Given the description of an element on the screen output the (x, y) to click on. 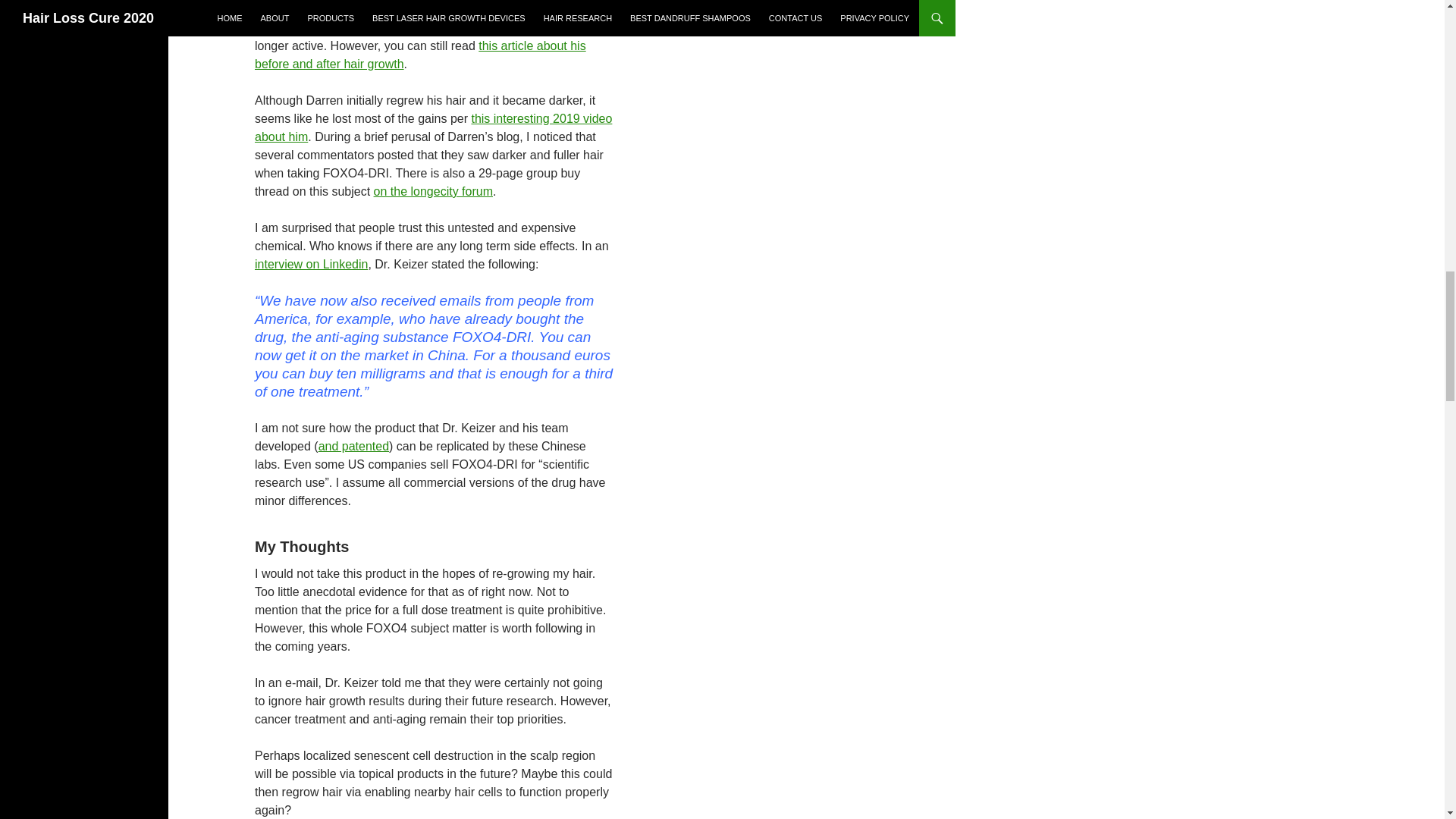
on the longecity forum (433, 191)
this interesting 2019 video about him (432, 127)
interview on Linkedin (311, 264)
and patented (353, 445)
this article about his before and after hair growth (420, 54)
